Given the description of an element on the screen output the (x, y) to click on. 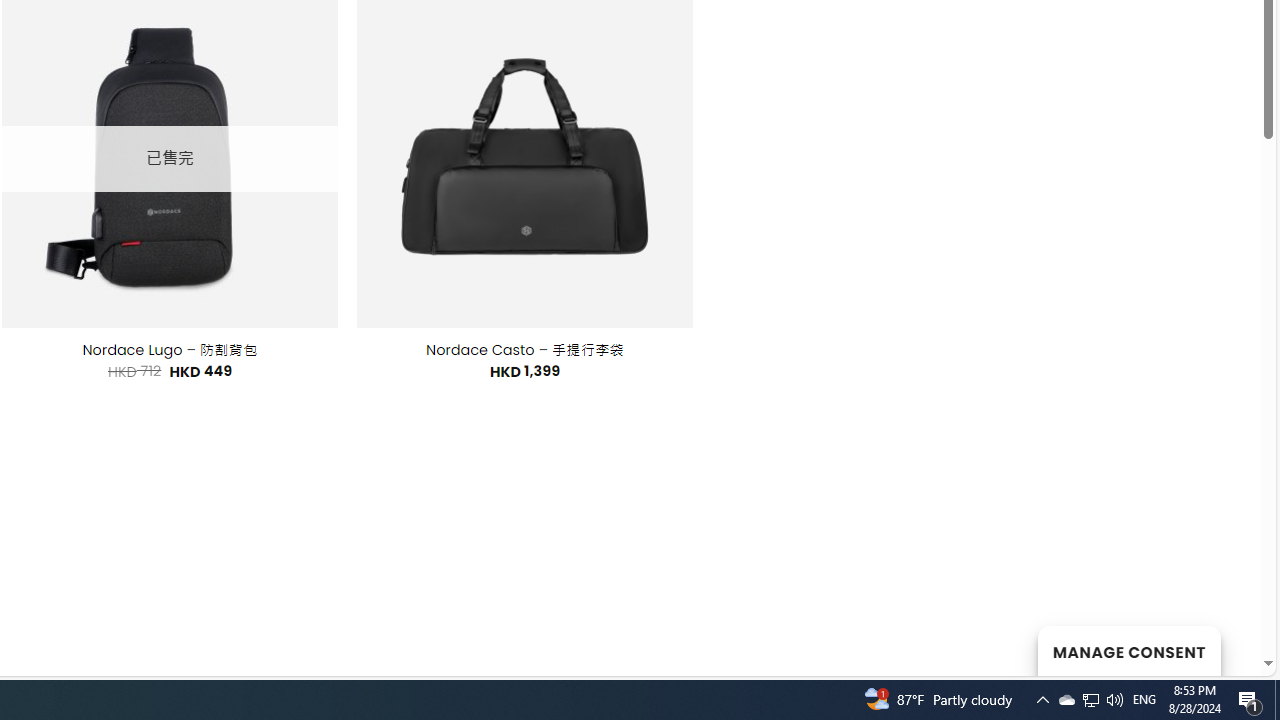
MANAGE CONSENT (1128, 650)
